Given the description of an element on the screen output the (x, y) to click on. 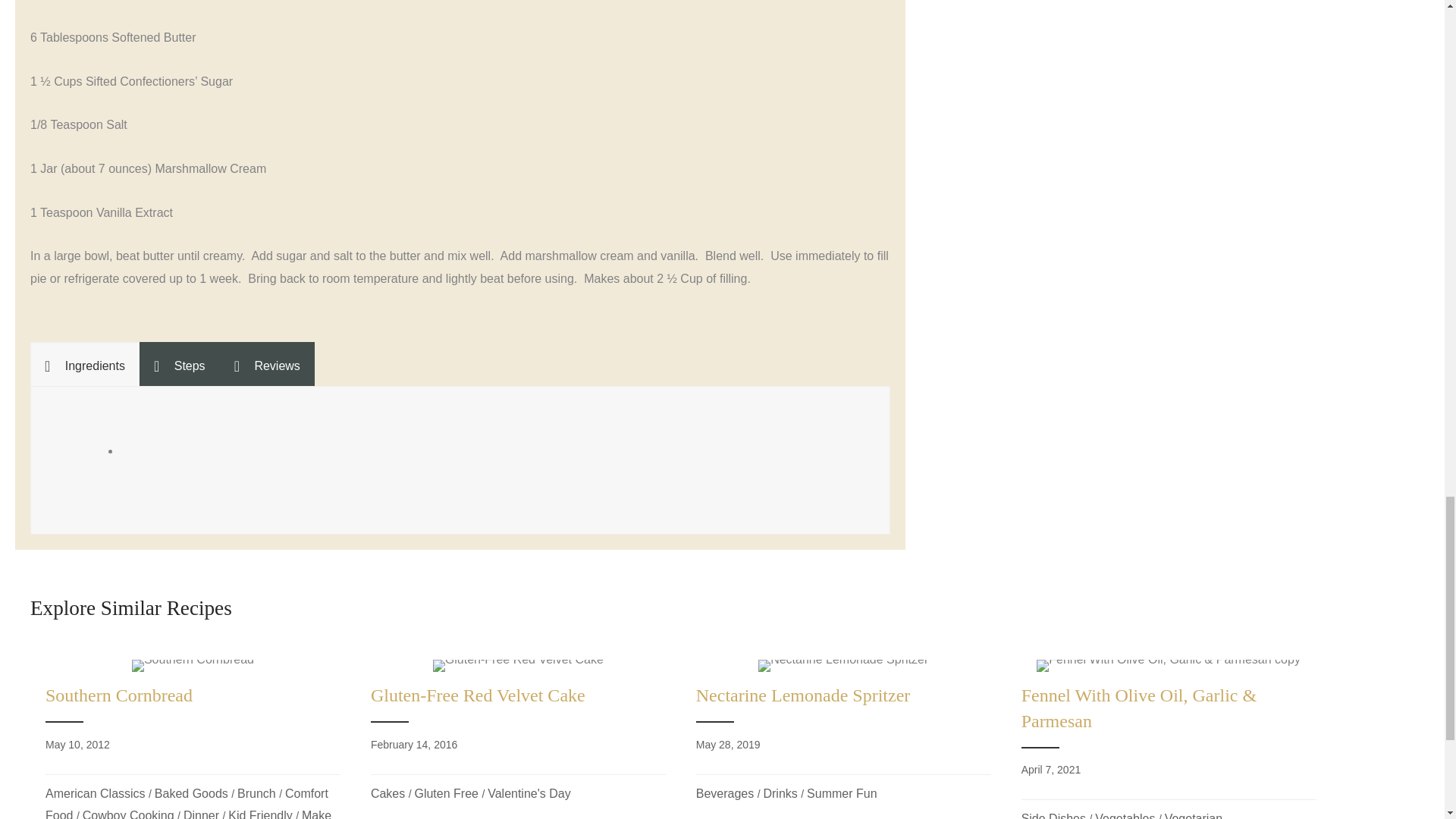
Cowboy Cooking (128, 814)
American Classics (95, 793)
Nectarine Lemonade Spritzer (843, 665)
Southern Cornbread (192, 665)
Make Ahead (188, 814)
Dinner (201, 814)
Nectarine Lemonade Spritzer (843, 735)
Gluten-Free Red Velvet Cake (518, 735)
Gluten-Free Red Velvet Cake (518, 665)
Kid Friendly (260, 814)
